Given the description of an element on the screen output the (x, y) to click on. 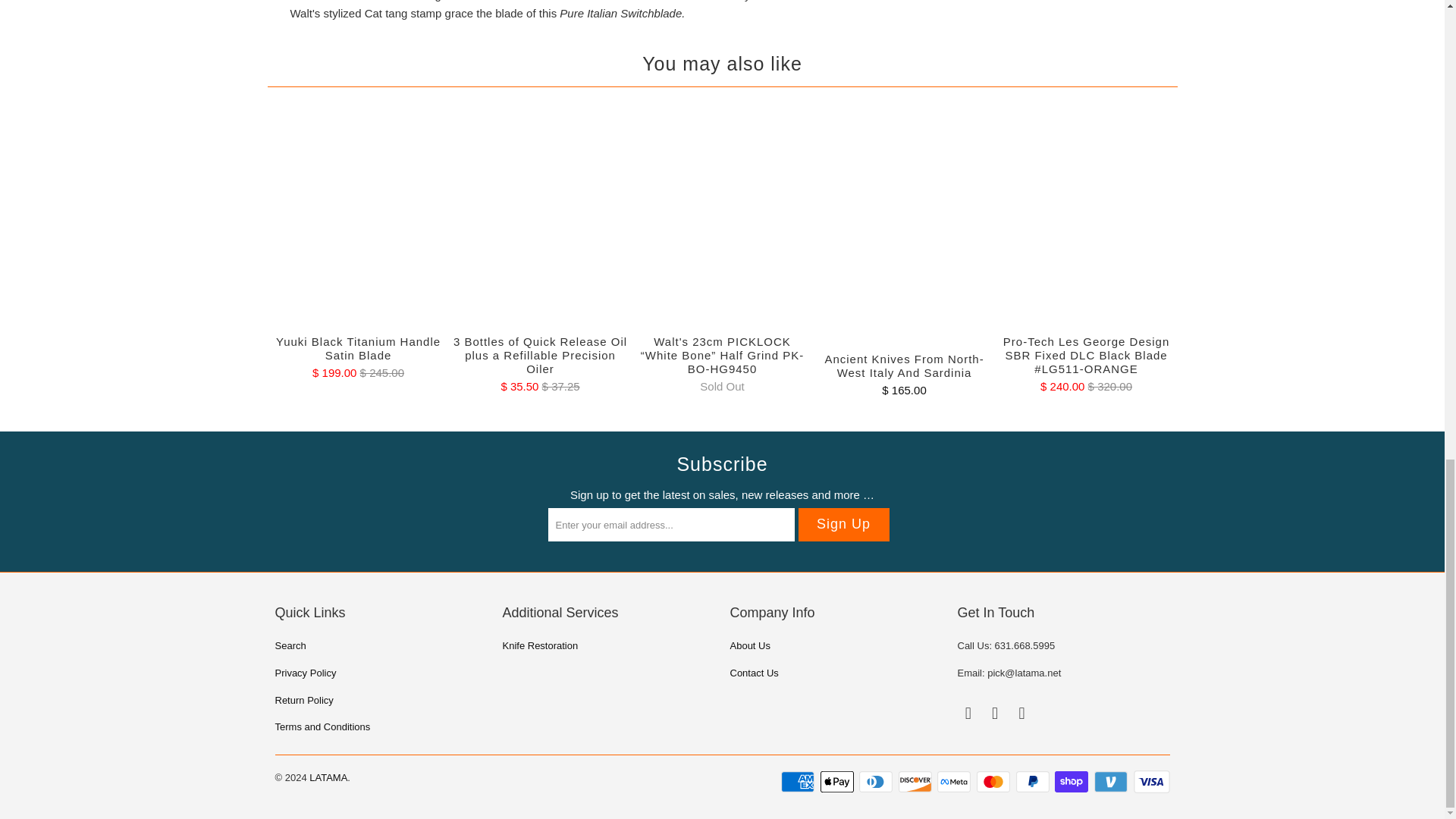
Venmo (1112, 781)
Mastercard (994, 781)
Discover (916, 781)
Diners Club (877, 781)
Visa (1150, 781)
American Express (798, 781)
Apple Pay (839, 781)
LATAMA on Instagram (995, 713)
PayPal (1034, 781)
LATAMA on Facebook (967, 713)
Sign Up (842, 524)
Meta Pay (955, 781)
Shop Pay (1072, 781)
